Given the description of an element on the screen output the (x, y) to click on. 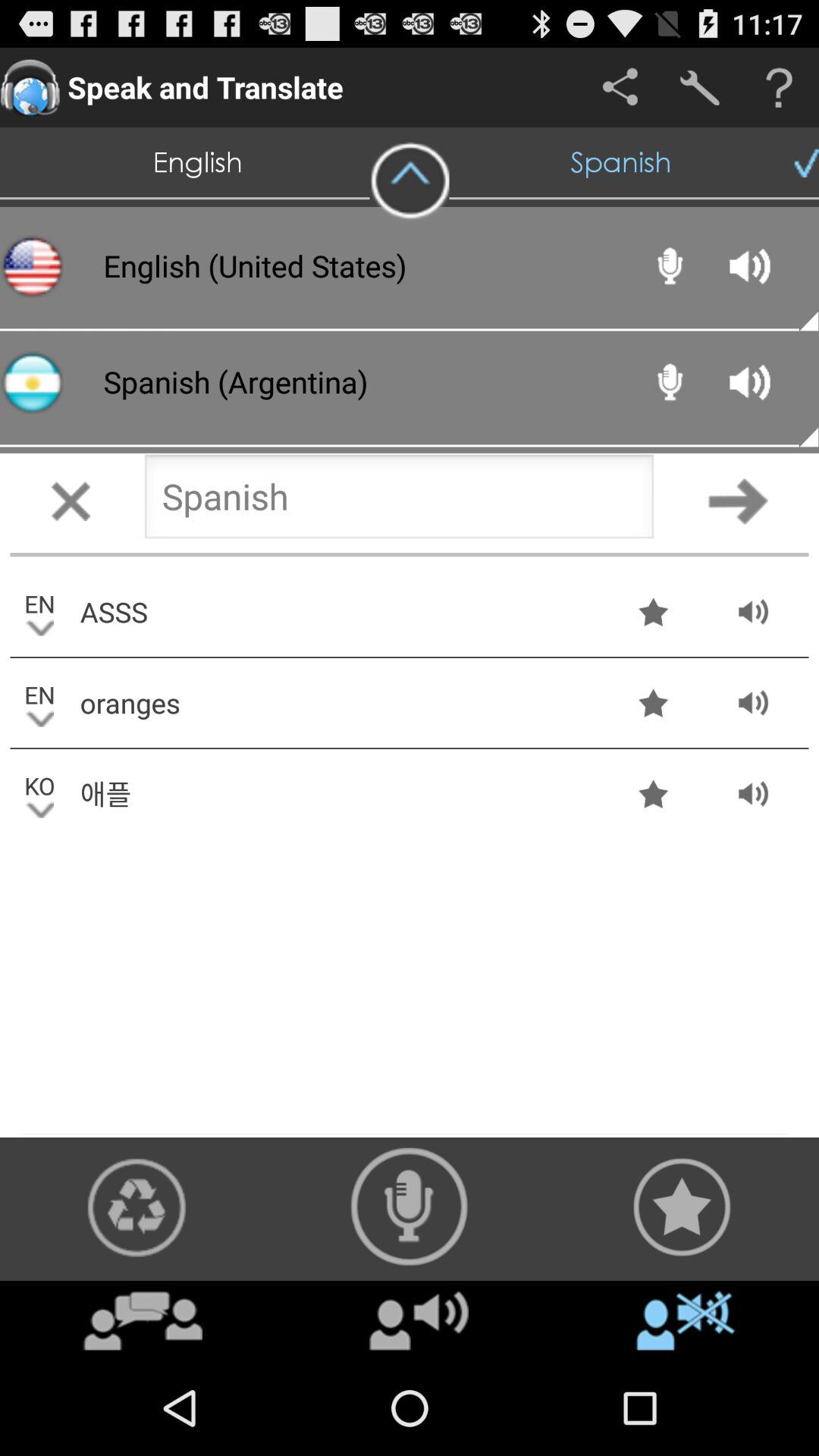
the question mark button gives helpful information about the app and how to use it (779, 87)
